Given the description of an element on the screen output the (x, y) to click on. 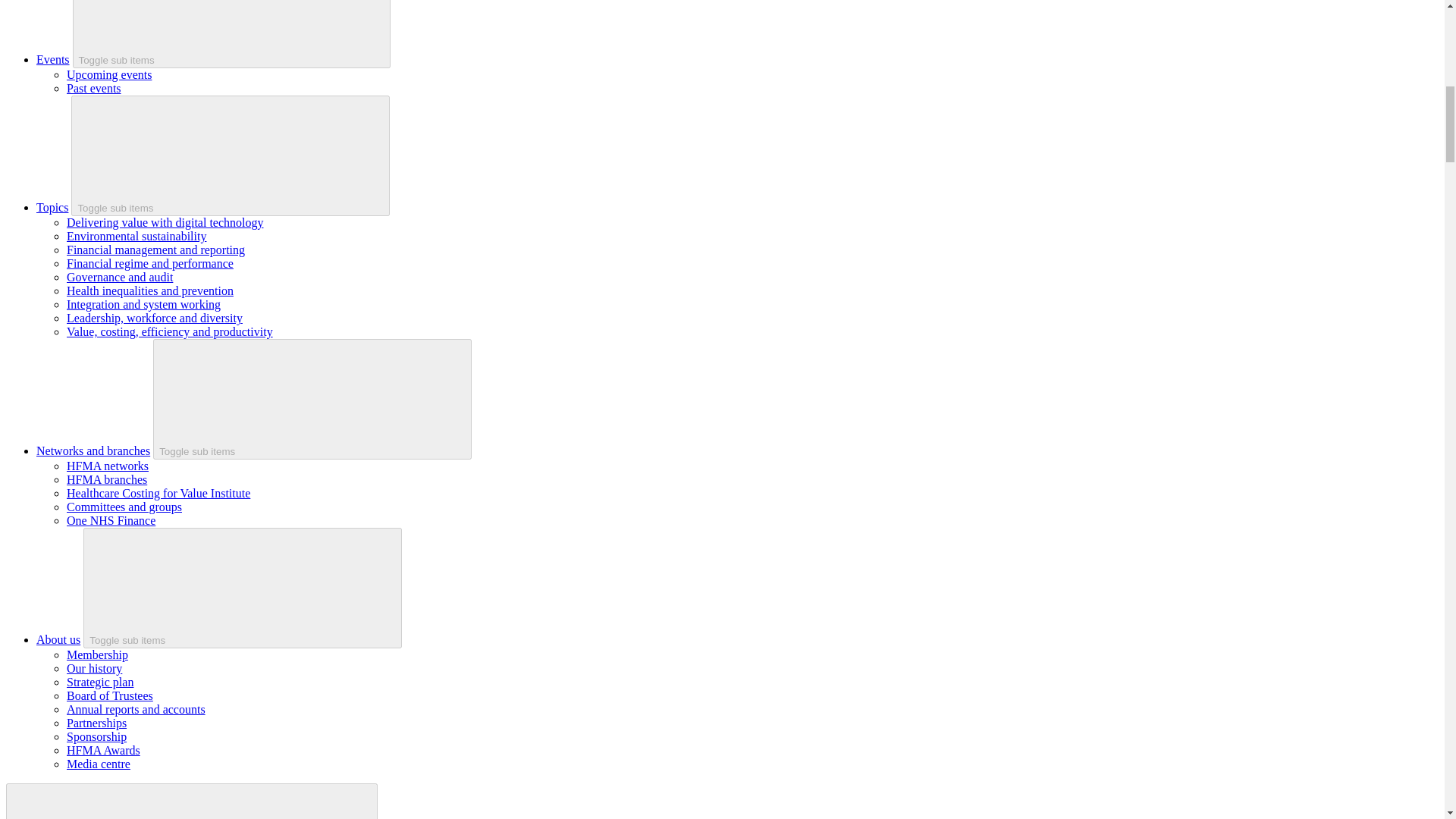
Financial management and reporting (155, 249)
Health inequalities and prevention (149, 290)
Financial regime and performance (149, 263)
Governance and audit (119, 277)
Toggle sub items (230, 155)
Value, costing, efficiency and productivity (169, 331)
Topics (52, 206)
Leadership, workforce and diversity (154, 318)
Toggle sub items (231, 33)
Past events (93, 88)
Networks and branches (92, 450)
Toggle sub items (311, 399)
HFMA networks (107, 465)
Upcoming events (108, 74)
Events (52, 59)
